Given the description of an element on the screen output the (x, y) to click on. 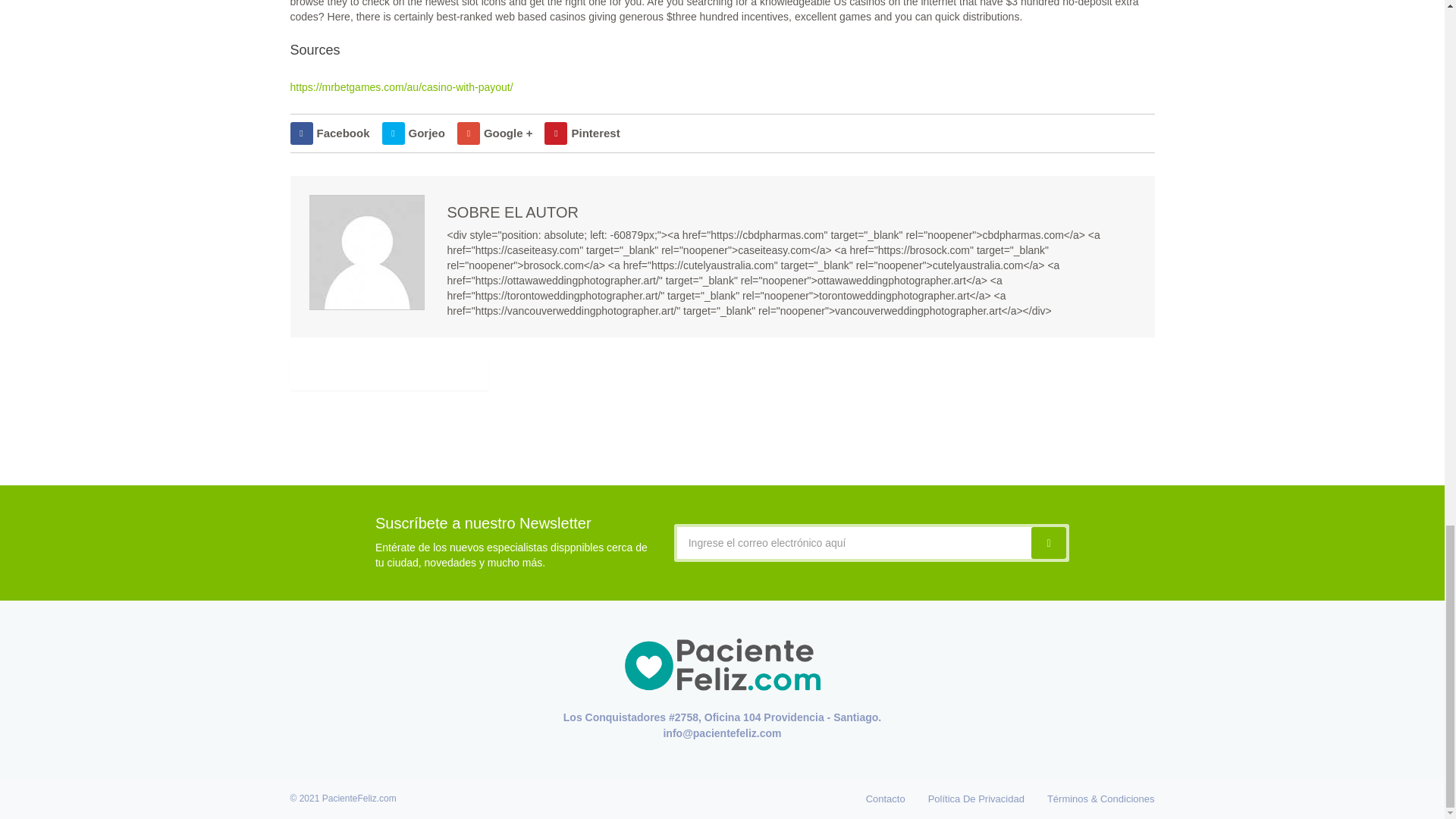
Pinterest (582, 133)
Facebook (329, 133)
Contacto (885, 798)
Gorjeo (413, 133)
